Given the description of an element on the screen output the (x, y) to click on. 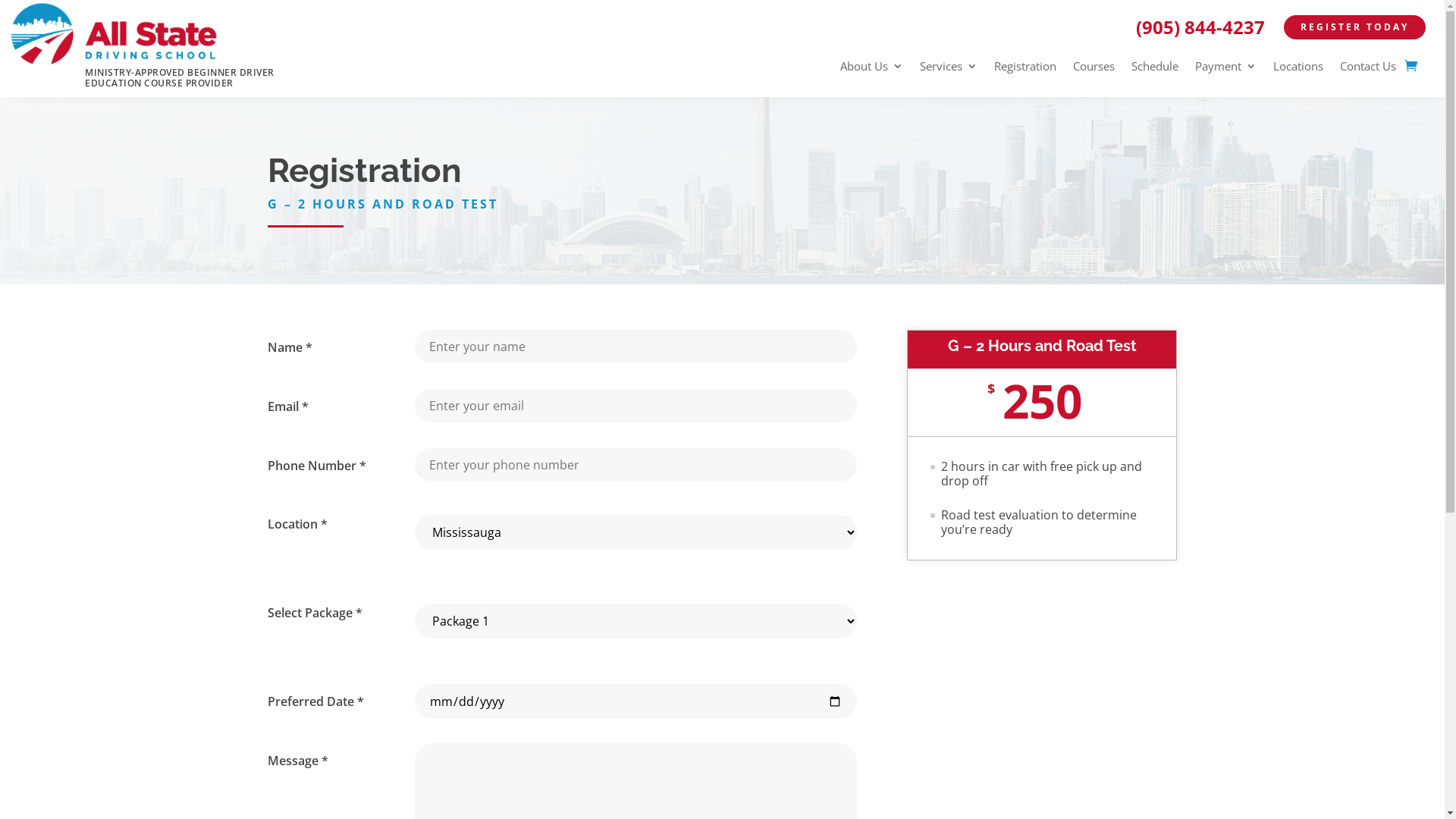
About Us Element type: text (871, 68)
Courses Element type: text (1093, 68)
Services Element type: text (948, 68)
Payment Element type: text (1225, 68)
Registration Element type: text (1025, 68)
Locations Element type: text (1298, 68)
Schedule Element type: text (1154, 68)
REGISTER TODAY Element type: text (1354, 27)
Contact Us Element type: text (1367, 68)
